Given the description of an element on the screen output the (x, y) to click on. 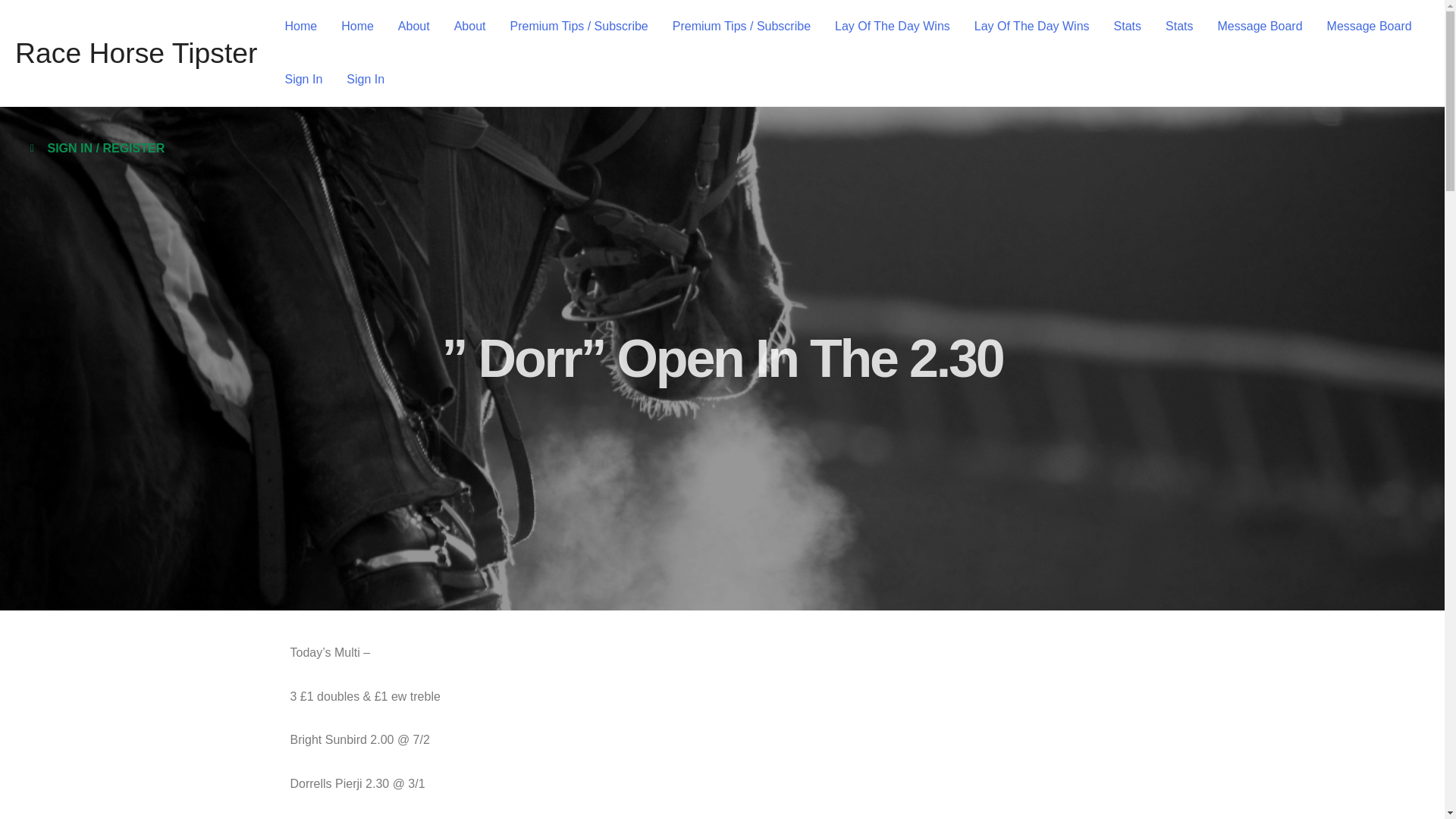
Message Board (1368, 26)
About (413, 26)
Home (300, 26)
About (469, 26)
Message Board (1259, 26)
Stats (1127, 26)
Sign In (303, 79)
Stats (1179, 26)
Sign In (365, 79)
Home (357, 26)
